Given the description of an element on the screen output the (x, y) to click on. 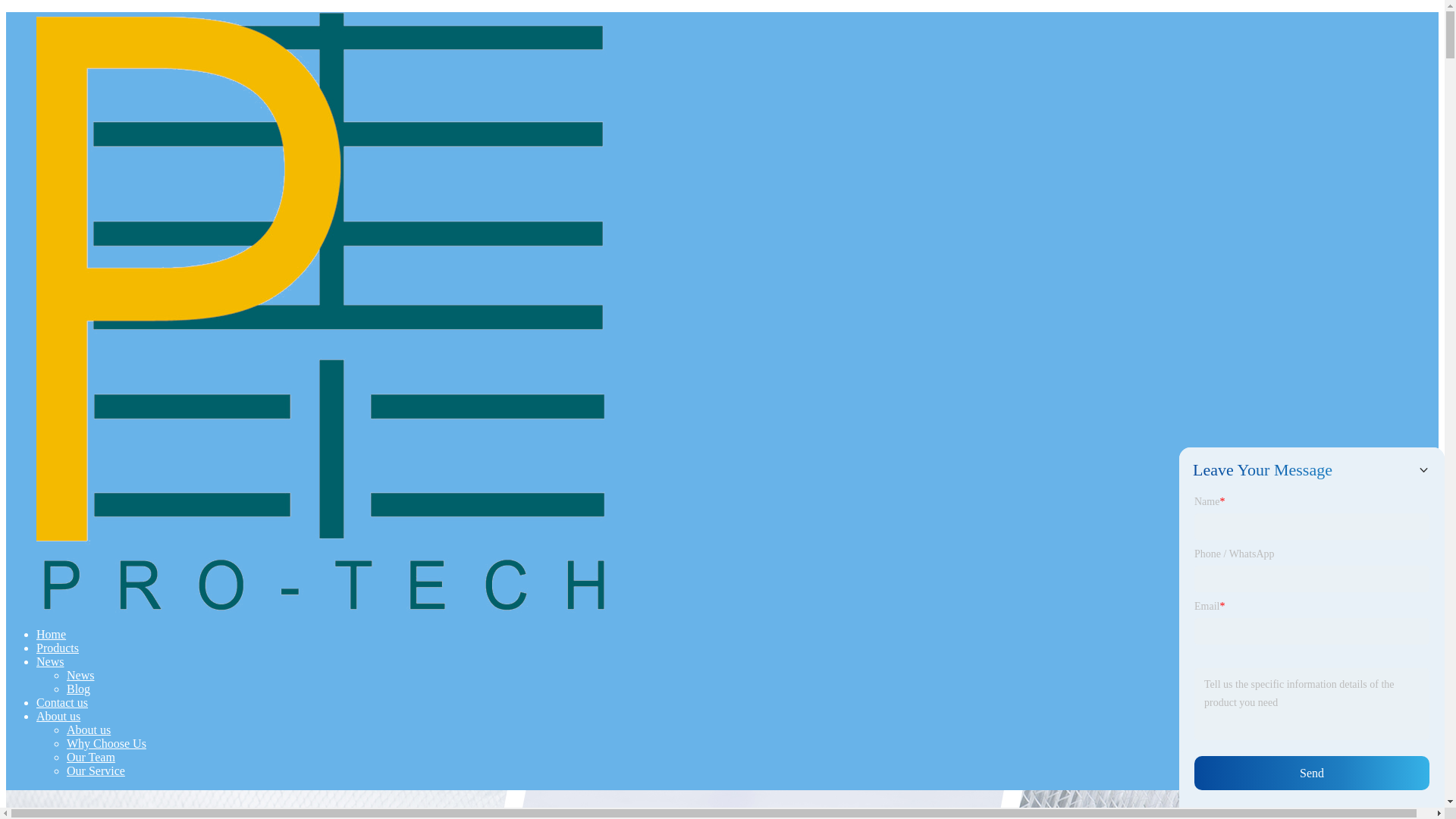
Home (50, 634)
News (50, 661)
Why Choose Us (106, 743)
Our Service (95, 770)
Contact us (61, 702)
Blog (78, 688)
About us (88, 729)
About us (58, 716)
Products (57, 647)
News (80, 675)
Our Team (90, 757)
